Given the description of an element on the screen output the (x, y) to click on. 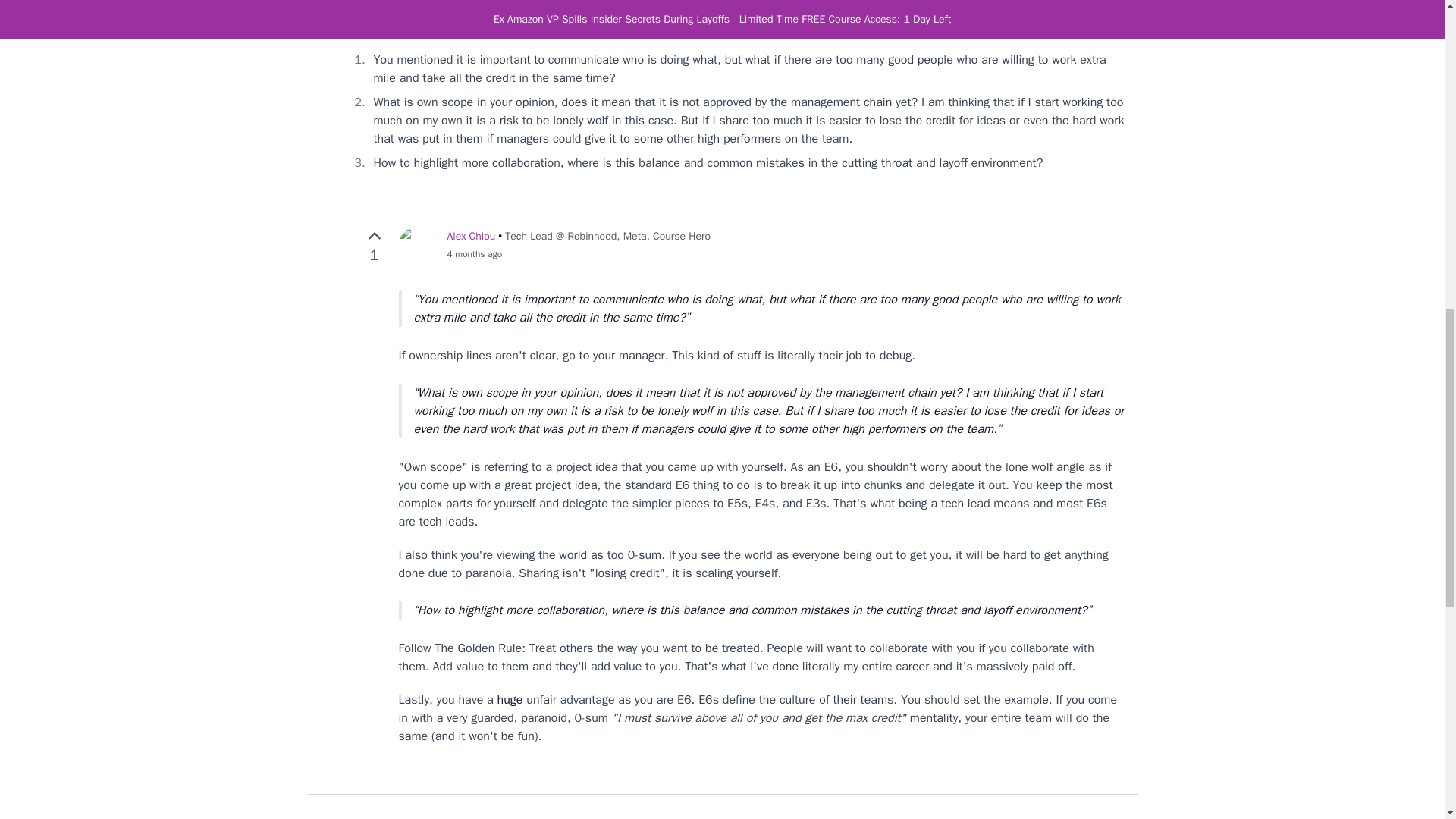
Friday March 22, 4:37pm (578, 254)
Wednesday March 20, 11:08pm (490, 1)
Alex Chiou (471, 236)
